Given the description of an element on the screen output the (x, y) to click on. 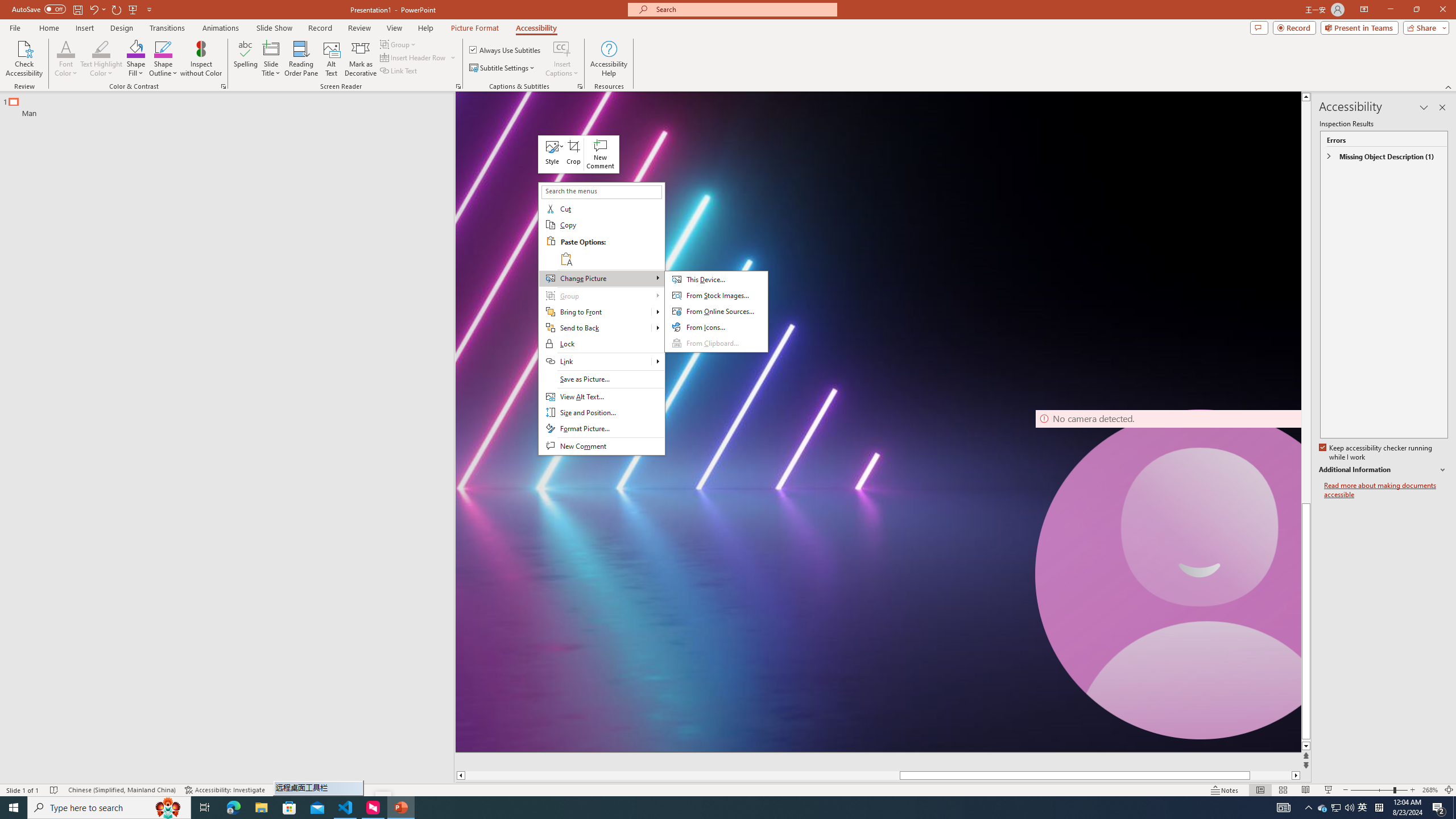
New Comment (600, 446)
Link Text (399, 69)
Paste Options (610, 250)
